Given the description of an element on the screen output the (x, y) to click on. 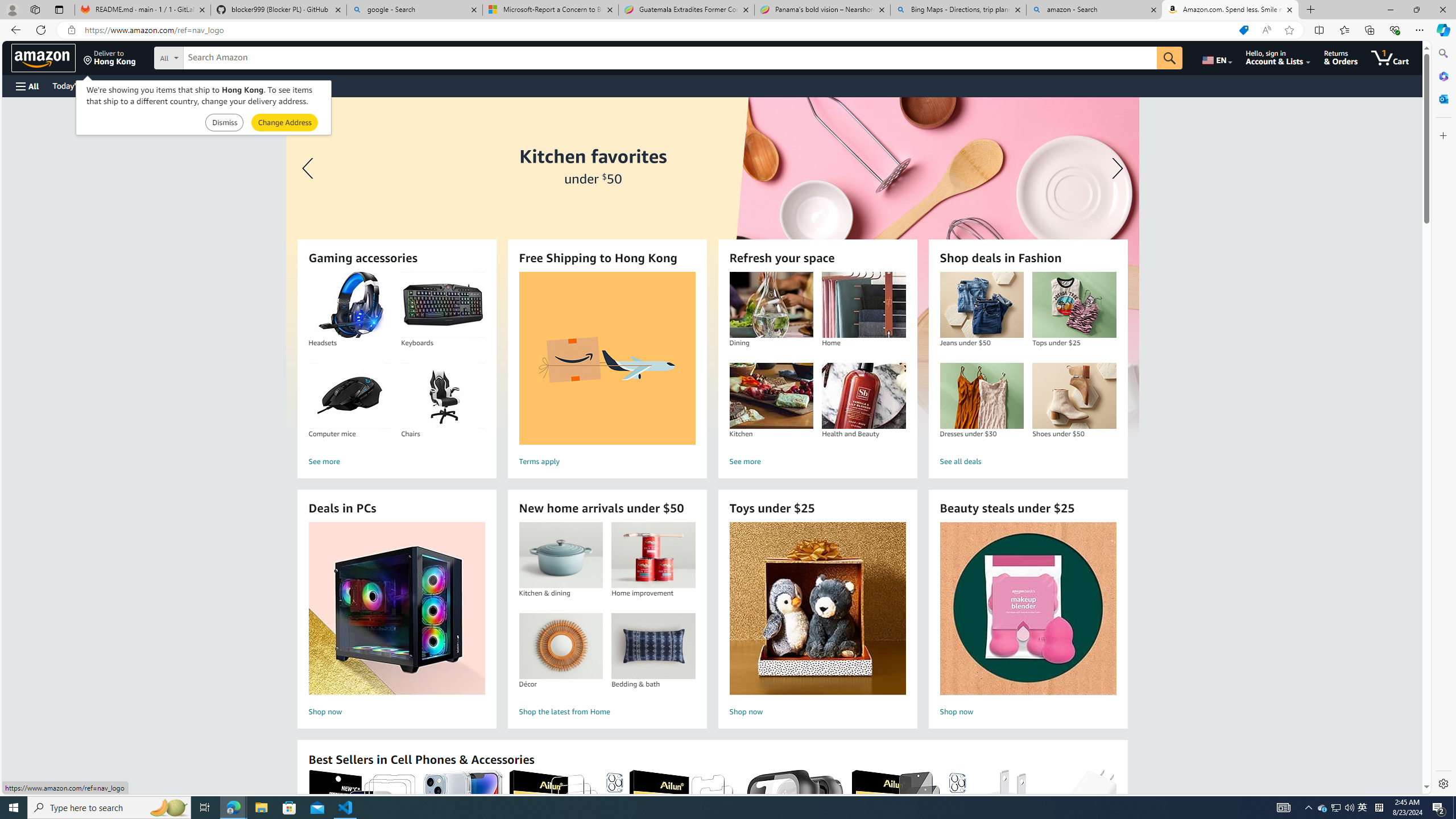
Home (863, 304)
Home (863, 304)
Today's Deals (76, 85)
Skip to main content (48, 56)
Bedding & bath (652, 645)
Search (1442, 53)
Shopping in Microsoft Edge (1243, 29)
Headsets (350, 304)
Previous slide (309, 168)
Dining (771, 304)
